Given the description of an element on the screen output the (x, y) to click on. 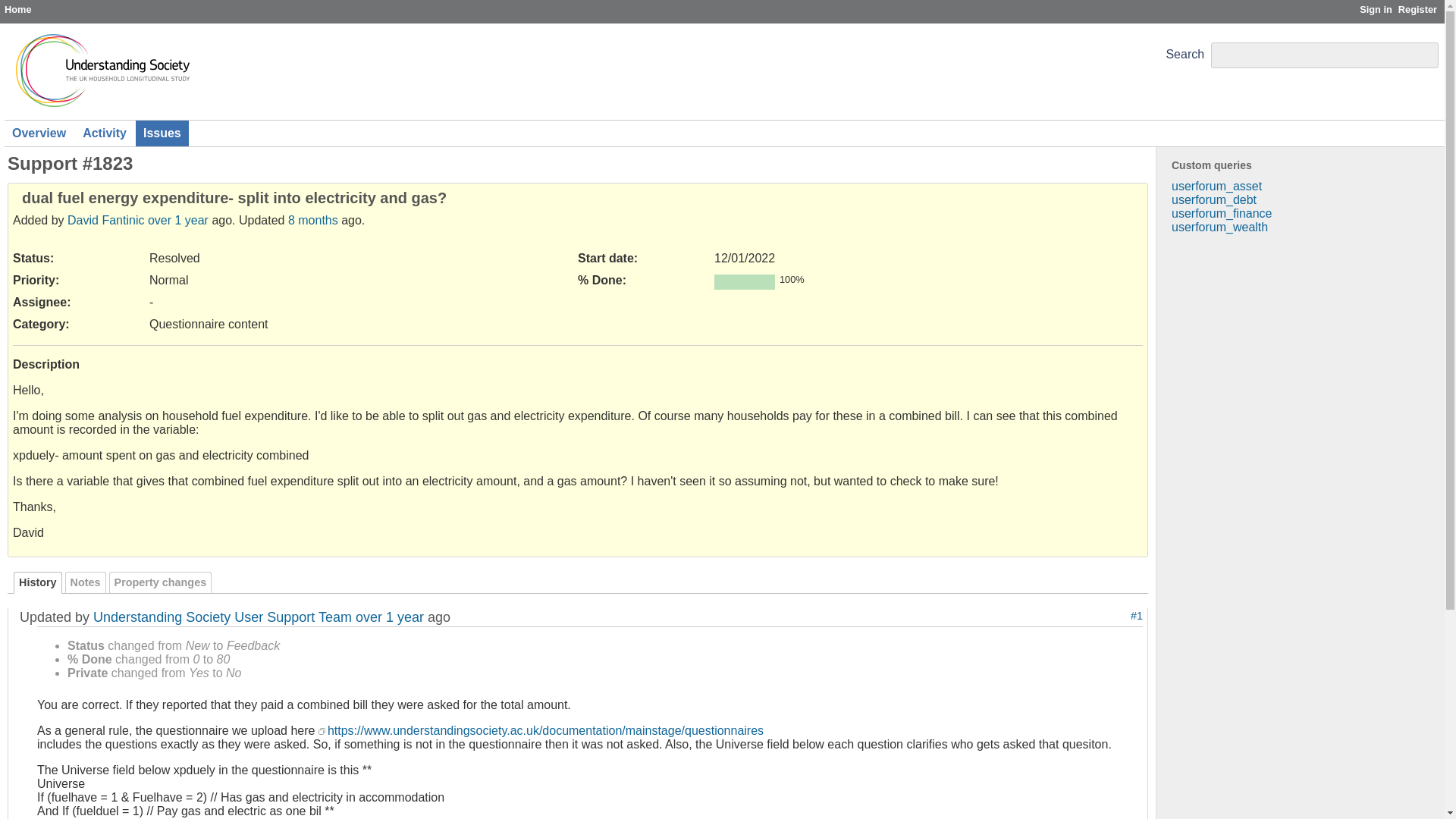
Property changes (160, 582)
Sign in (1375, 9)
Overview (39, 133)
David Fantinic (105, 219)
8 months (312, 219)
Home (18, 9)
Register (1417, 9)
Activity (104, 133)
History (37, 582)
Search (1185, 53)
Issues (162, 133)
over 1 year (178, 219)
Notes (85, 582)
Understanding Society User Support Team (222, 616)
over 1 year (389, 616)
